Given the description of an element on the screen output the (x, y) to click on. 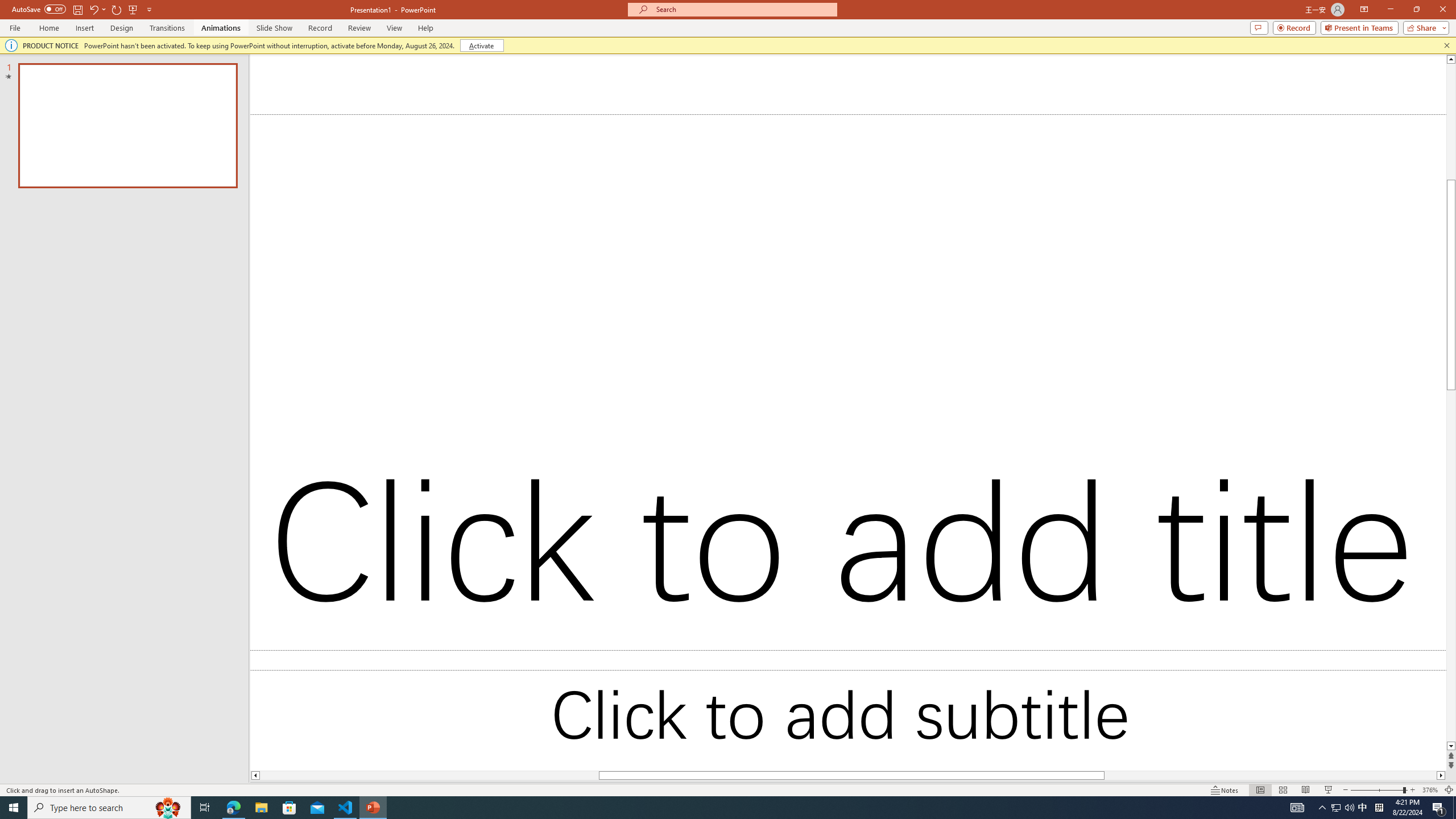
Page up (1278, 161)
Text Highlight Color Yellow (282, 102)
Subscript (199, 102)
Line up (1278, 142)
Grow Font (244, 77)
Emphasis (1369, 374)
Heading 2 (972, 91)
Character Shading (350, 102)
Row up (1025, 76)
